Given the description of an element on the screen output the (x, y) to click on. 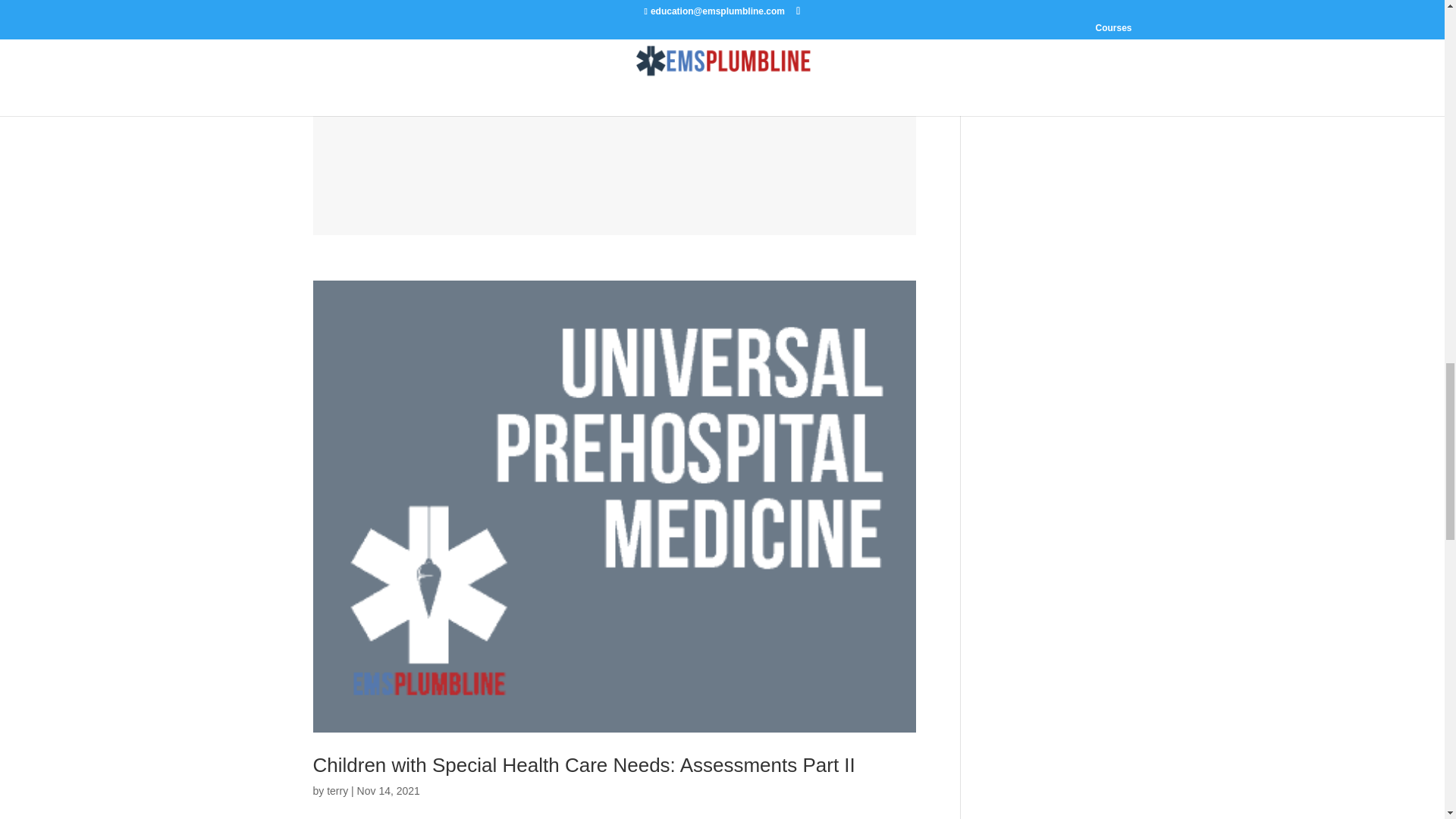
Children with Special Health Care Needs: Assessments Part II (583, 764)
Posts by terry (336, 790)
terry (336, 790)
